Given the description of an element on the screen output the (x, y) to click on. 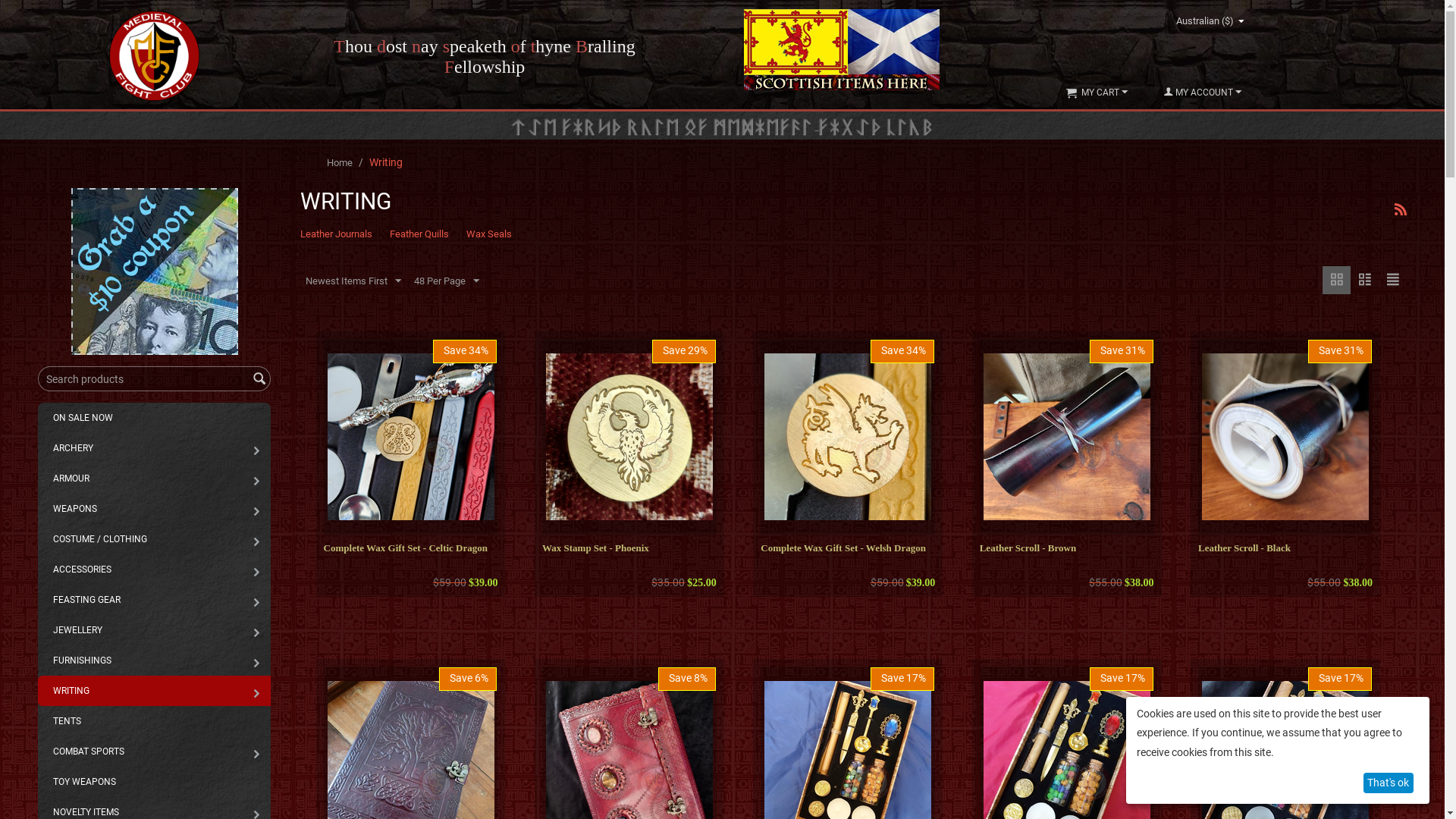
Search products Element type: hover (153, 378)
ARMOUR Element type: text (153, 478)
Feather Quills Element type: text (418, 233)
WEAPONS Element type: text (153, 508)
ARCHERY Element type: text (153, 448)
Leather Scroll - Black Element type: text (1284, 548)
Home of Medieval Fight Club Element type: hover (154, 55)
Wax Stamp Set - Phoenix Element type: text (628, 548)
TENTS Element type: text (153, 721)
Leather Journals Element type: text (336, 233)
Home Element type: text (339, 162)
48 Per Page Element type: text (446, 279)
Complete Wax Gift Set - Welsh Dragon Element type: text (846, 548)
FURNISHINGS Element type: text (153, 660)
Newest Items First Element type: text (353, 279)
MY CART Element type: text (1096, 91)
ON SALE NOW Element type: text (153, 417)
Wax Seals Element type: text (488, 233)
ACCESSORIES Element type: text (153, 569)
That's ok Element type: text (1388, 782)
Complete Wax Gift Set - Celtic Dragon Element type: text (409, 548)
TOY WEAPONS Element type: text (153, 781)
Home of Medieval Fight Club Element type: hover (154, 54)
WRITING Element type: text (153, 690)
Get a $10 discount coupon right now Element type: hover (154, 271)
Leather Scroll - Brown Element type: text (1065, 548)
MY ACCOUNT Element type: text (1202, 92)
Australian ($) Element type: text (1210, 20)
COMBAT SPORTS Element type: text (153, 751)
JEWELLERY Element type: text (153, 630)
FEASTING GEAR Element type: text (153, 599)
COSTUME / CLOTHING Element type: text (153, 539)
Search Element type: hover (258, 379)
